Given the description of an element on the screen output the (x, y) to click on. 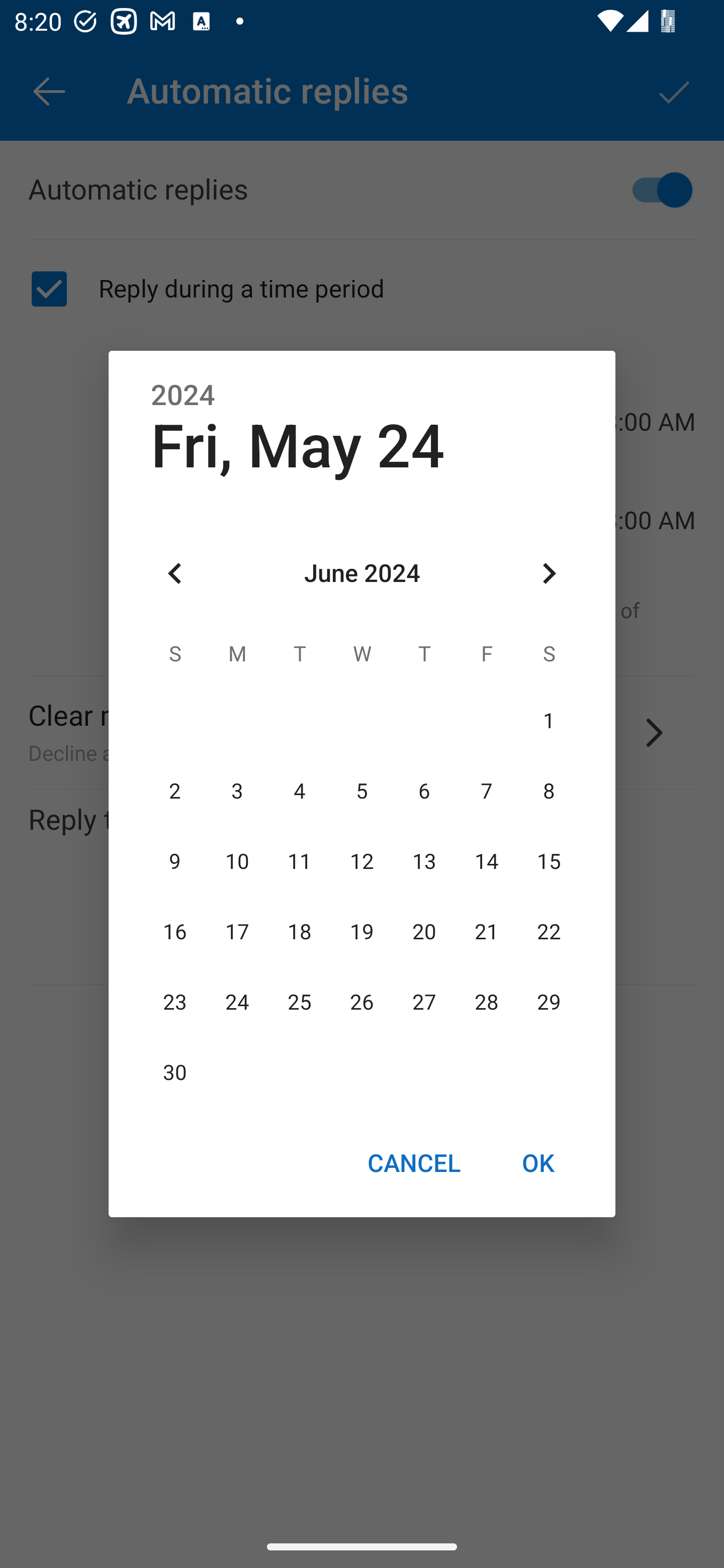
2024 (182, 395)
Fri, May 24 (297, 446)
Previous month (174, 573)
Next month (548, 573)
1 01 June 2024 (548, 720)
2 02 June 2024 (175, 790)
3 03 June 2024 (237, 790)
4 04 June 2024 (299, 790)
5 05 June 2024 (361, 790)
6 06 June 2024 (424, 790)
7 07 June 2024 (486, 790)
8 08 June 2024 (548, 790)
9 09 June 2024 (175, 861)
10 10 June 2024 (237, 861)
11 11 June 2024 (299, 861)
12 12 June 2024 (361, 861)
13 13 June 2024 (424, 861)
14 14 June 2024 (486, 861)
15 15 June 2024 (548, 861)
16 16 June 2024 (175, 931)
17 17 June 2024 (237, 931)
18 18 June 2024 (299, 931)
19 19 June 2024 (361, 931)
20 20 June 2024 (424, 931)
21 21 June 2024 (486, 931)
22 22 June 2024 (548, 931)
23 23 June 2024 (175, 1002)
24 24 June 2024 (237, 1002)
25 25 June 2024 (299, 1002)
26 26 June 2024 (361, 1002)
27 27 June 2024 (424, 1002)
28 28 June 2024 (486, 1002)
29 29 June 2024 (548, 1002)
30 30 June 2024 (175, 1073)
CANCEL (413, 1162)
OK (537, 1162)
